Given the description of an element on the screen output the (x, y) to click on. 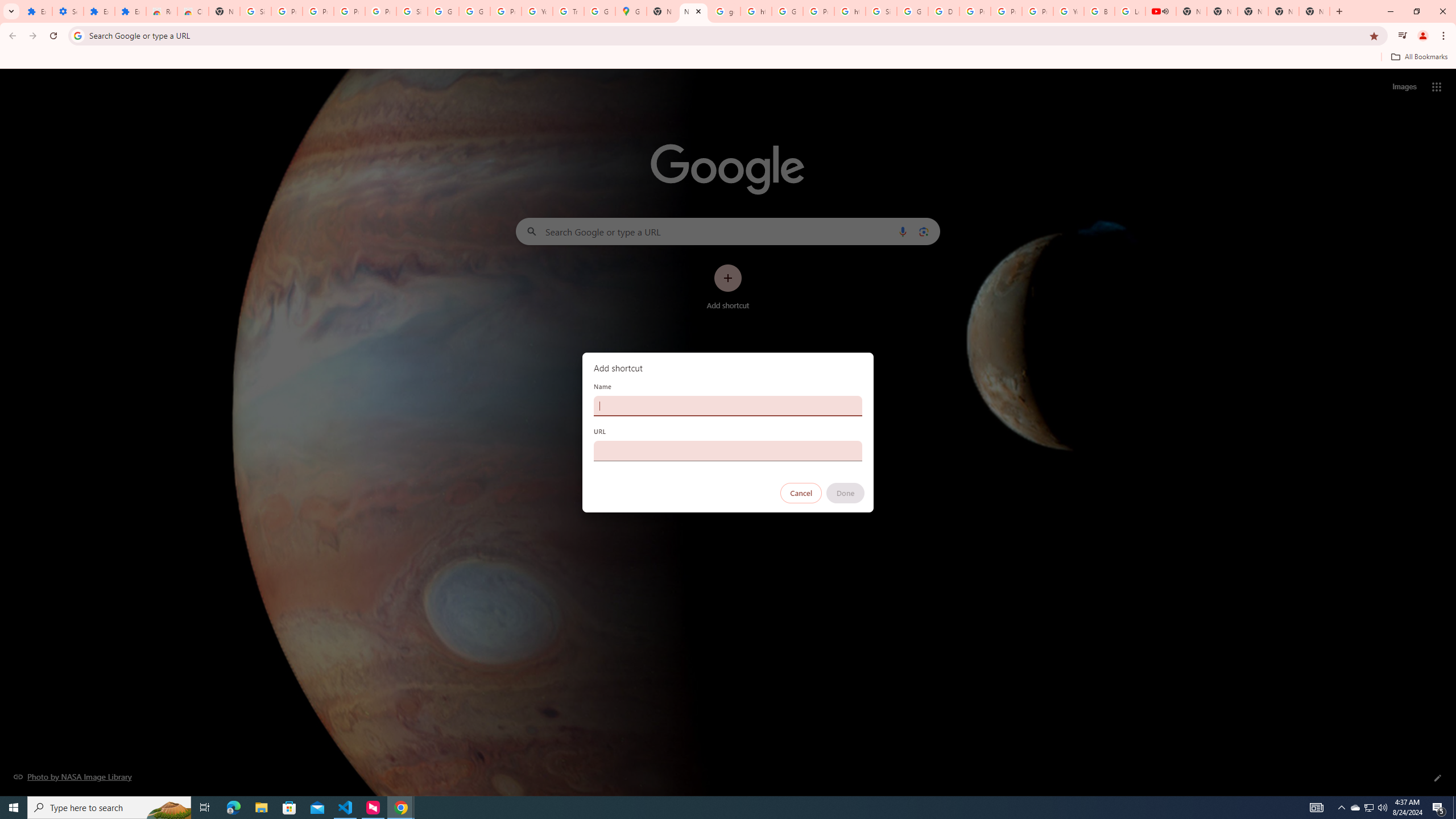
Privacy Help Center - Policies Help (1005, 11)
Reviews: Helix Fruit Jump Arcade Game (161, 11)
Extensions (98, 11)
URL (727, 450)
